Given the description of an element on the screen output the (x, y) to click on. 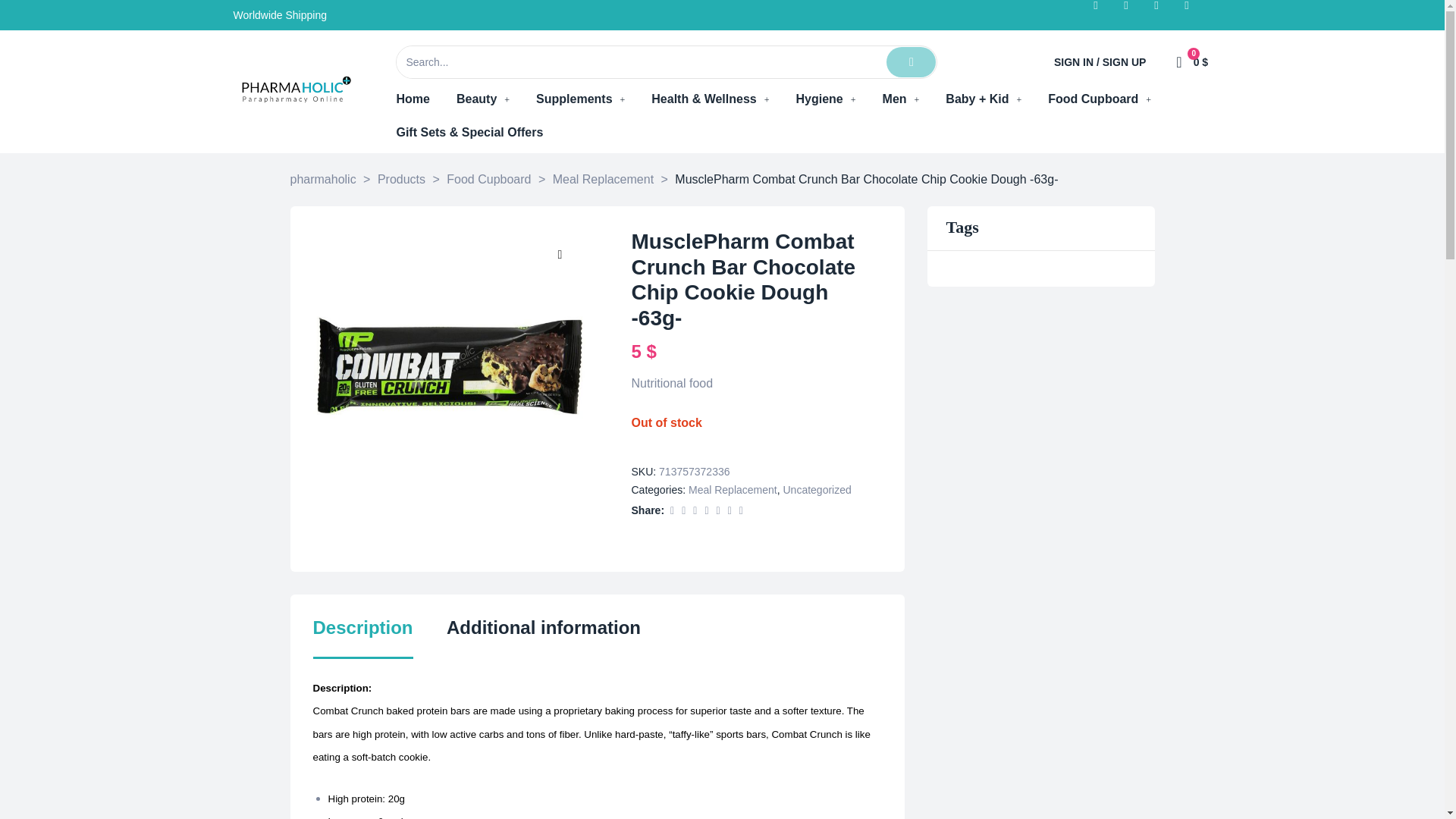
Search (640, 61)
Go to Products. (401, 179)
Go to the Meal Replacement Category archives. (603, 179)
Go to pharmaholic. (322, 179)
products-713757372336-copy.jpg (449, 365)
Go to the Food Cupboard Category archives. (488, 179)
